Given the description of an element on the screen output the (x, y) to click on. 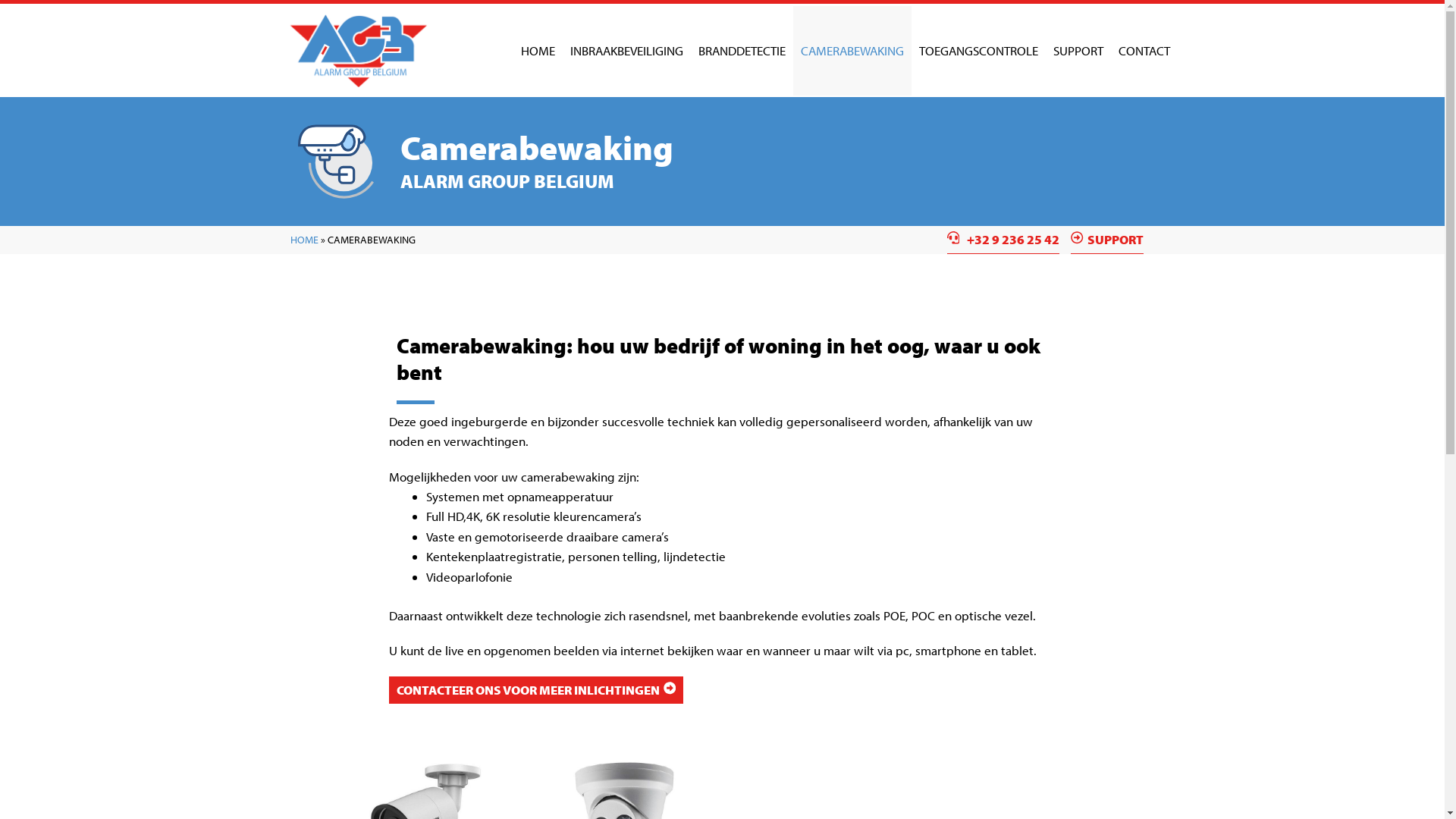
SUPPORT Element type: text (1077, 50)
TOEGANGSCONTROLE Element type: text (978, 50)
INBRAAKBEVEILIGING Element type: text (626, 50)
HOME Element type: text (303, 239)
CONTACT Element type: text (1143, 50)
BRANDDETECTIE Element type: text (741, 50)
CAMERABEWAKING Element type: text (852, 50)
HOME Element type: text (536, 50)
SUPPORT Element type: text (1106, 239)
CONTACTEER ONS VOOR MEER INLICHTINGEN Element type: text (535, 690)
+32 9 236 25 42 Element type: text (1002, 239)
